Given the description of an element on the screen output the (x, y) to click on. 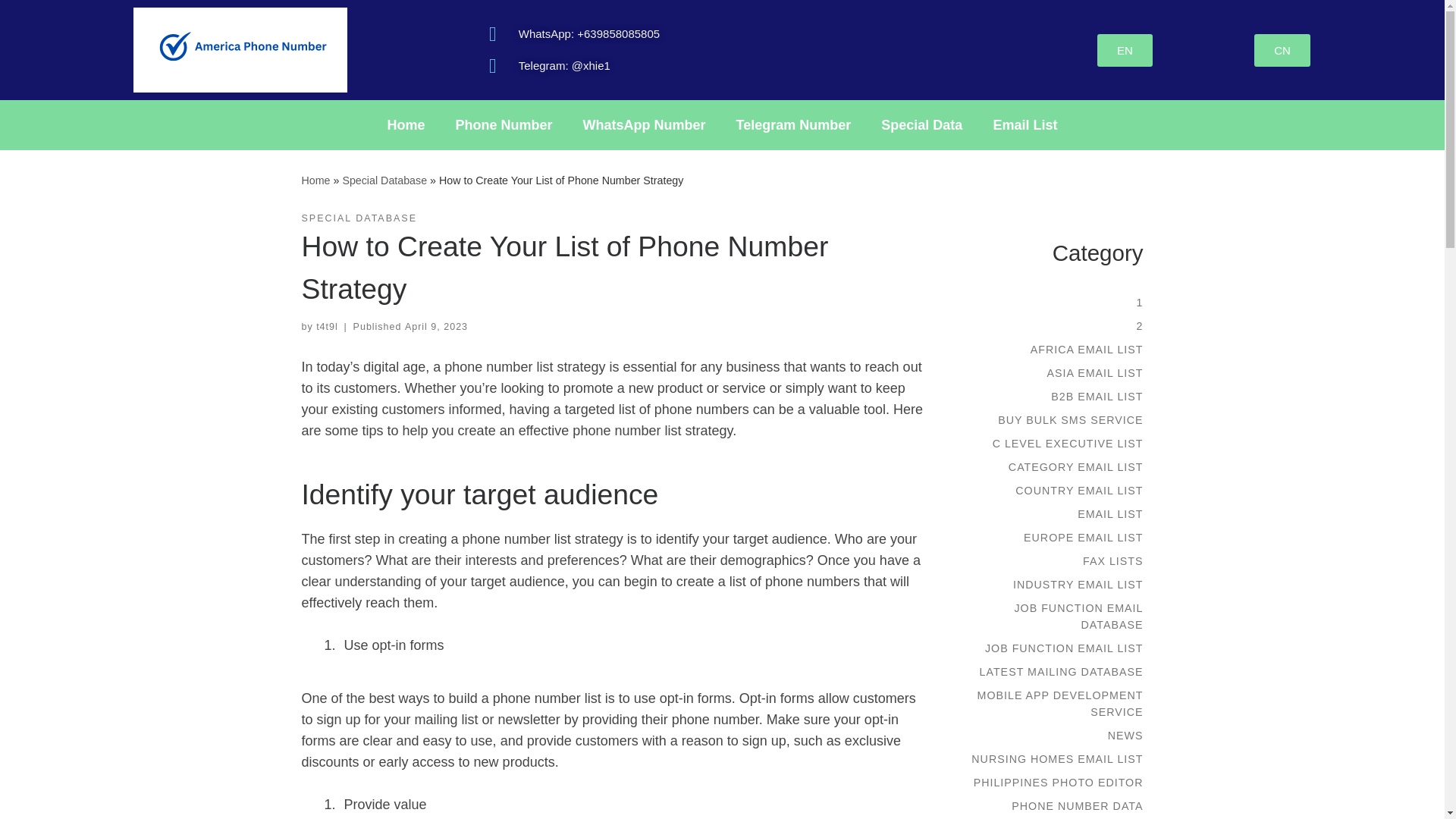
Home (406, 124)
April 9, 2023 (435, 326)
Special Data (921, 124)
Special Database (384, 180)
Telegram Number (793, 124)
View all posts in Special Database (359, 218)
11:33 am (435, 326)
Phone Number (504, 124)
EN (1125, 49)
Home (315, 180)
